Given the description of an element on the screen output the (x, y) to click on. 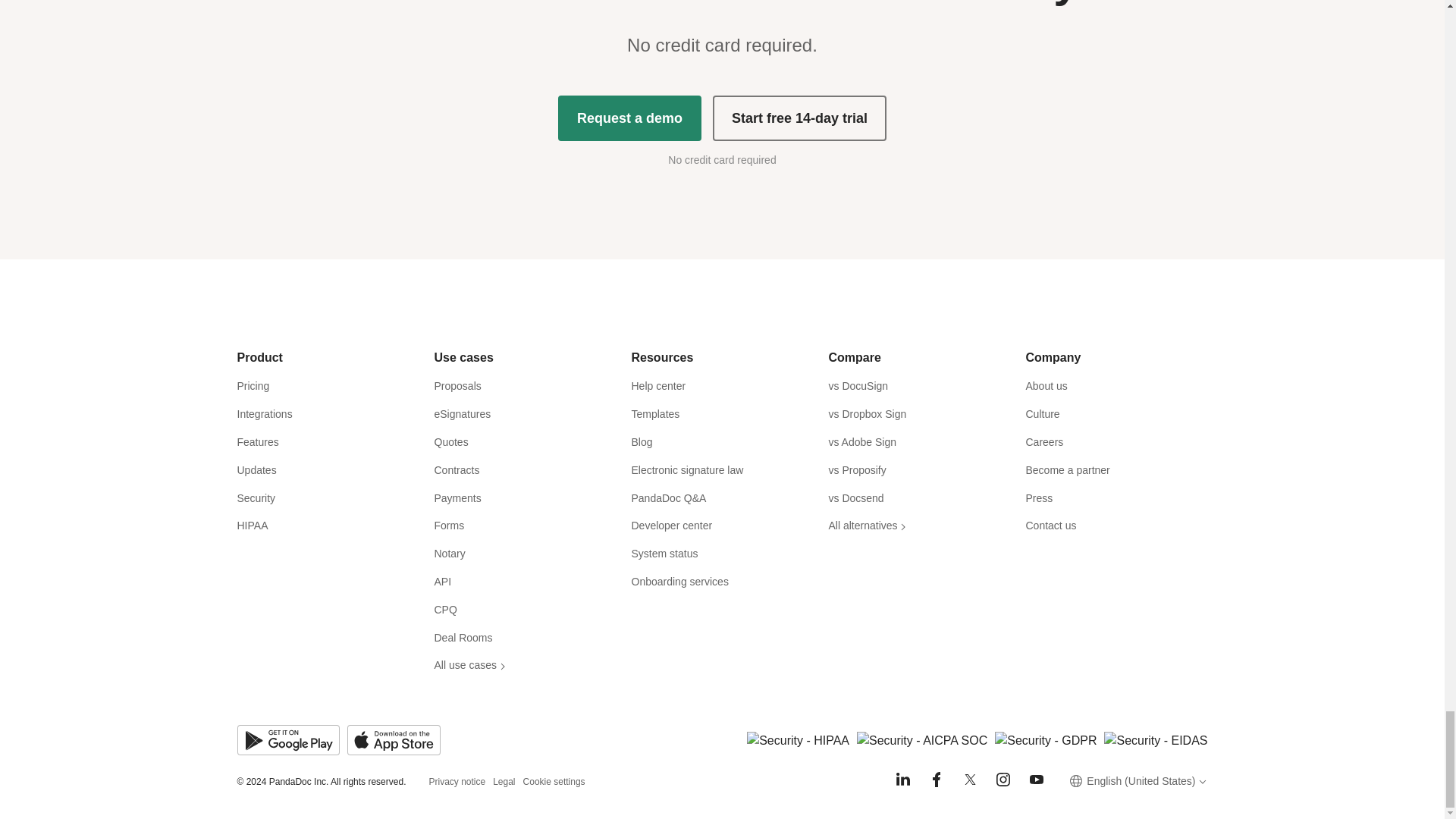
Youtube (1036, 779)
Instagram (1002, 779)
Twitter (969, 779)
LinkedIn (902, 779)
Facebook (935, 779)
